Given the description of an element on the screen output the (x, y) to click on. 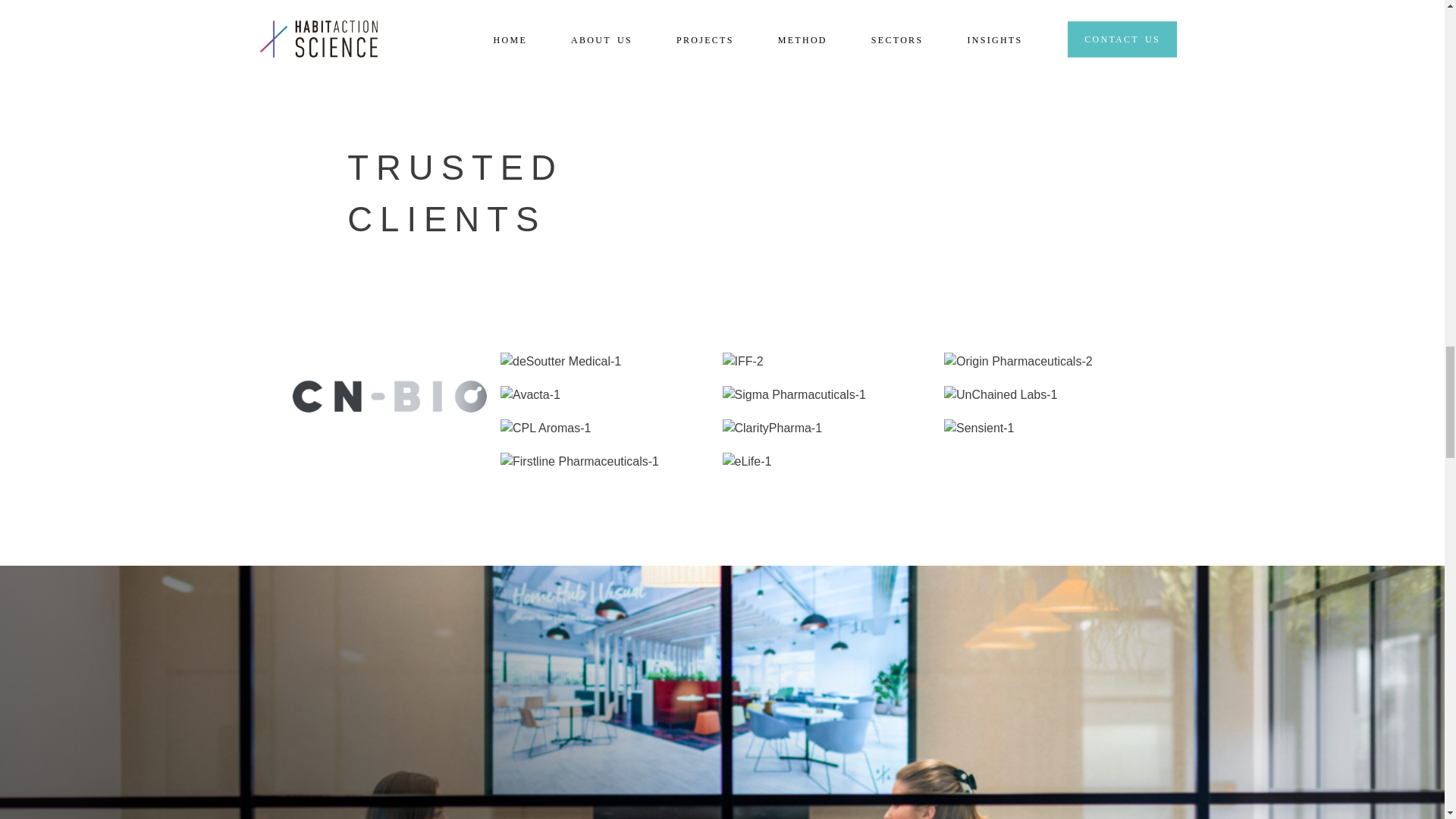
project-arrow (624, 28)
